Given the description of an element on the screen output the (x, y) to click on. 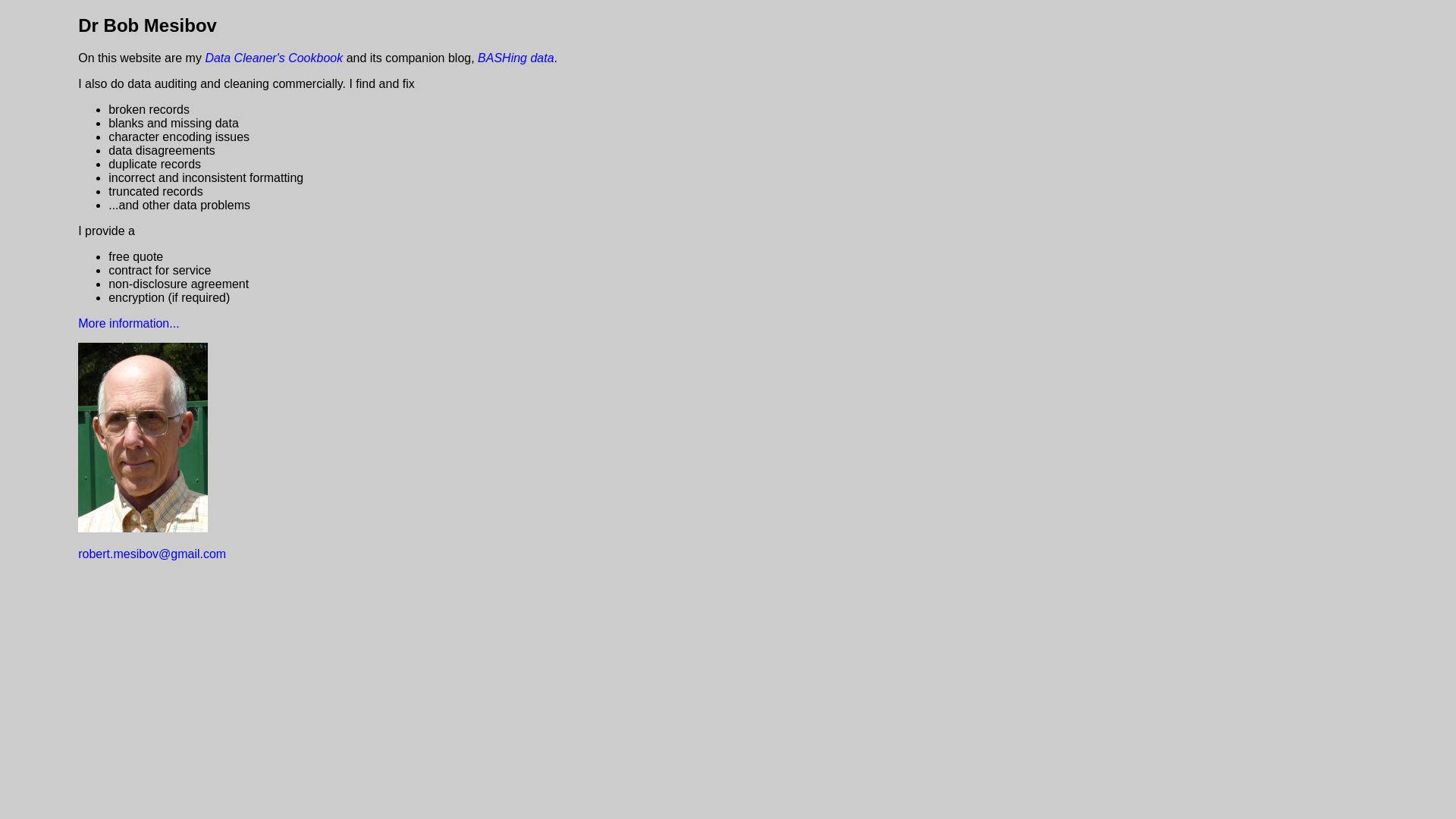
BASHing data Element type: text (515, 57)
More information... Element type: text (128, 322)
robert.mesibov@gmail.com Element type: text (151, 553)
Data Cleaner's Cookbook Element type: text (273, 57)
